Given the description of an element on the screen output the (x, y) to click on. 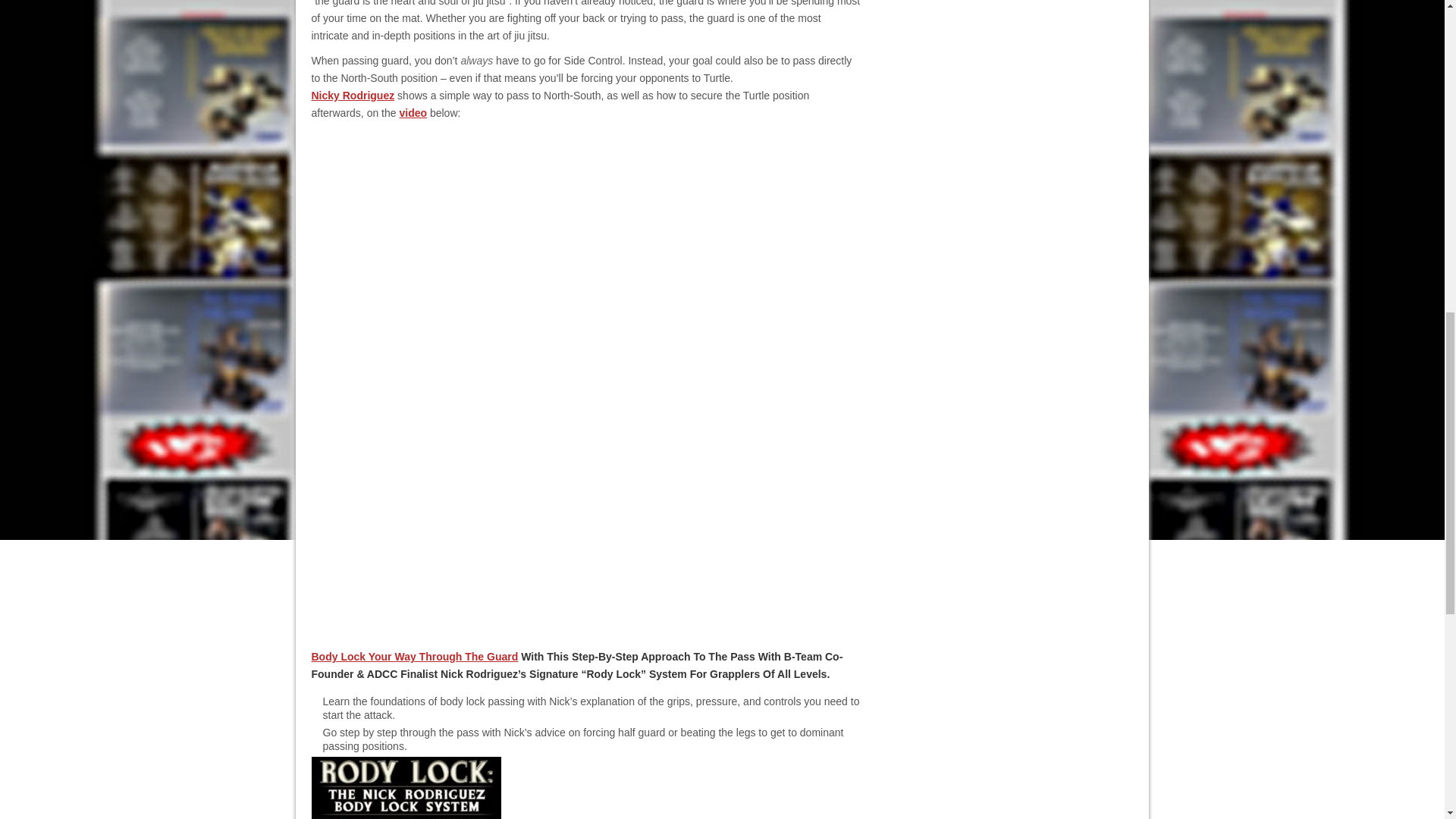
Nicky Rodriguez (352, 95)
video (412, 112)
Body Lock Your Way Through The Guard (414, 656)
